Given the description of an element on the screen output the (x, y) to click on. 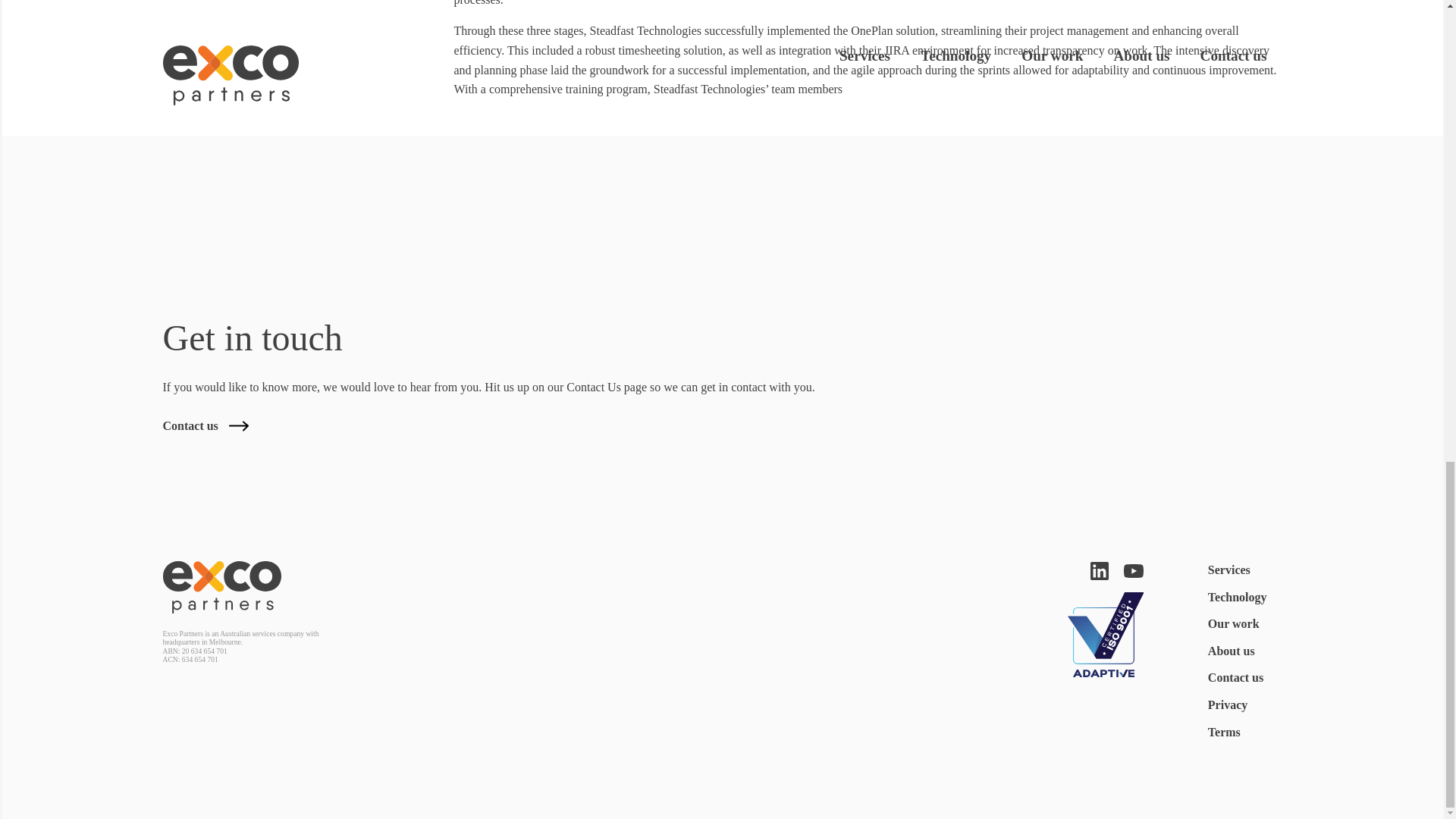
Privacy (1227, 707)
About us (1231, 653)
Contact us (1235, 679)
Contact us (204, 426)
Contact us (204, 426)
Terms (1224, 734)
Services (1229, 572)
Our work (1233, 626)
Technology (1237, 599)
